Given the description of an element on the screen output the (x, y) to click on. 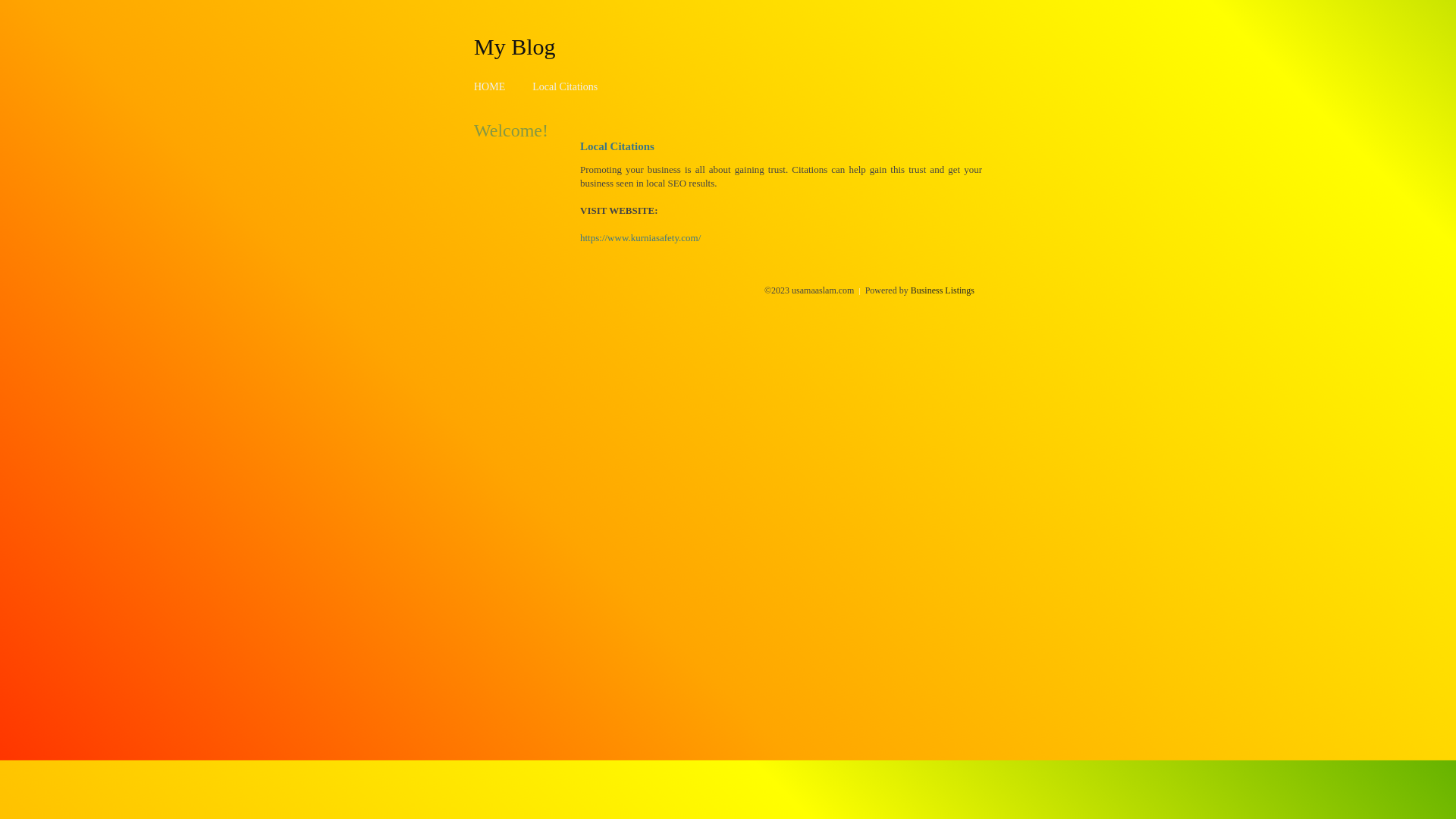
https://www.kurniasafety.com/ Element type: text (640, 237)
My Blog Element type: text (514, 46)
Business Listings Element type: text (942, 290)
HOME Element type: text (489, 86)
Local Citations Element type: text (564, 86)
